Given the description of an element on the screen output the (x, y) to click on. 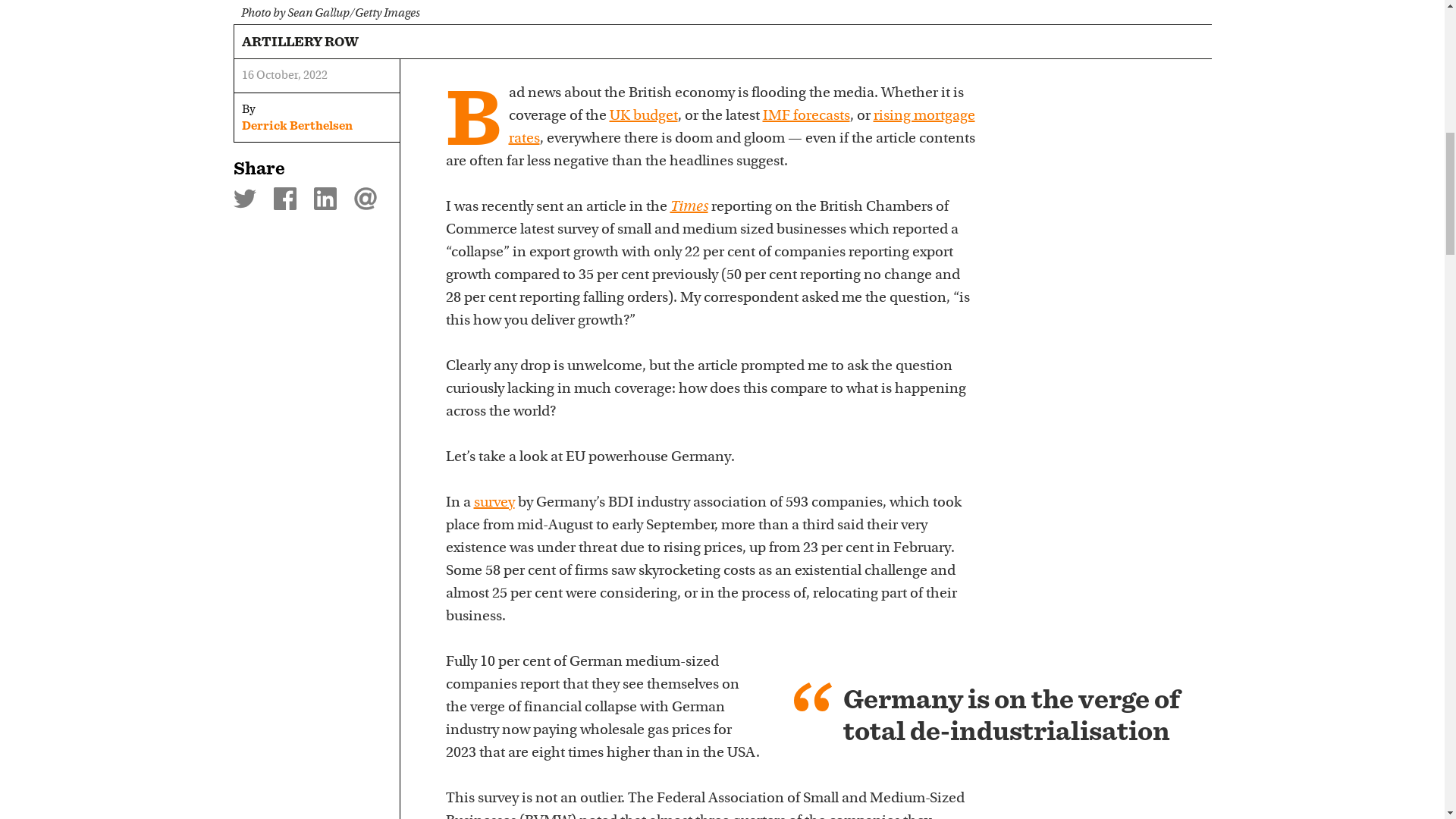
IMF forecasts (806, 115)
survey (493, 502)
rising mortgage rates (741, 127)
ARTILLERY ROW (299, 41)
UK budget (644, 115)
Derrick Berthelsen (296, 125)
Times (688, 206)
